Given the description of an element on the screen output the (x, y) to click on. 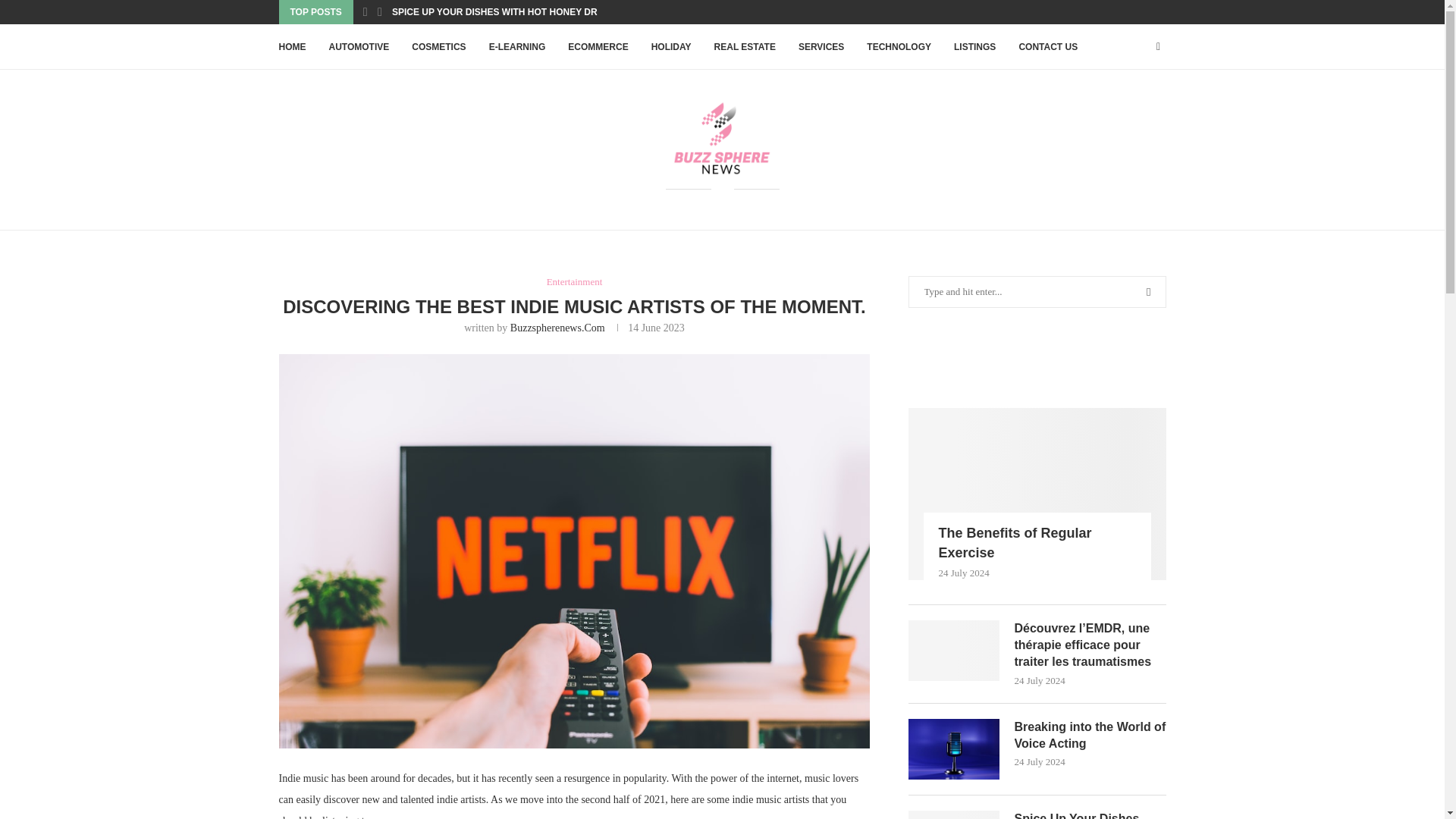
ECOMMERCE (597, 46)
AUTOMOTIVE (359, 46)
E-LEARNING (517, 46)
LISTINGS (974, 46)
CONTACT US (1047, 46)
Entertainment (574, 282)
REAL ESTATE (745, 46)
TECHNOLOGY (898, 46)
HOLIDAY (670, 46)
Buzzspherenews.Com (558, 327)
COSMETICS (438, 46)
SERVICES (820, 46)
SPICE UP YOUR DISHES WITH HOT HONEY DRIZZLE:... (512, 12)
